Given the description of an element on the screen output the (x, y) to click on. 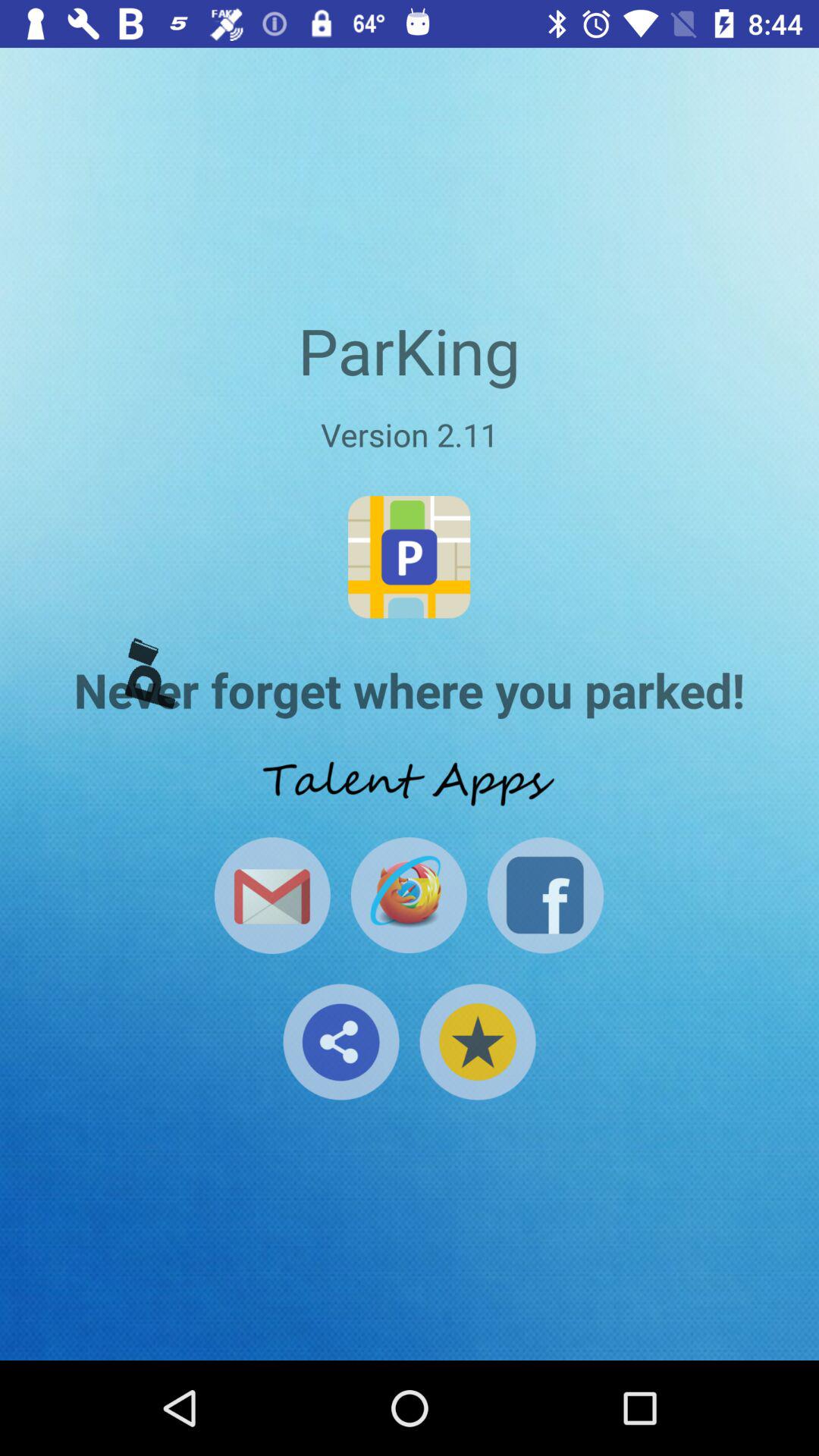
share the app (341, 1041)
